Given the description of an element on the screen output the (x, y) to click on. 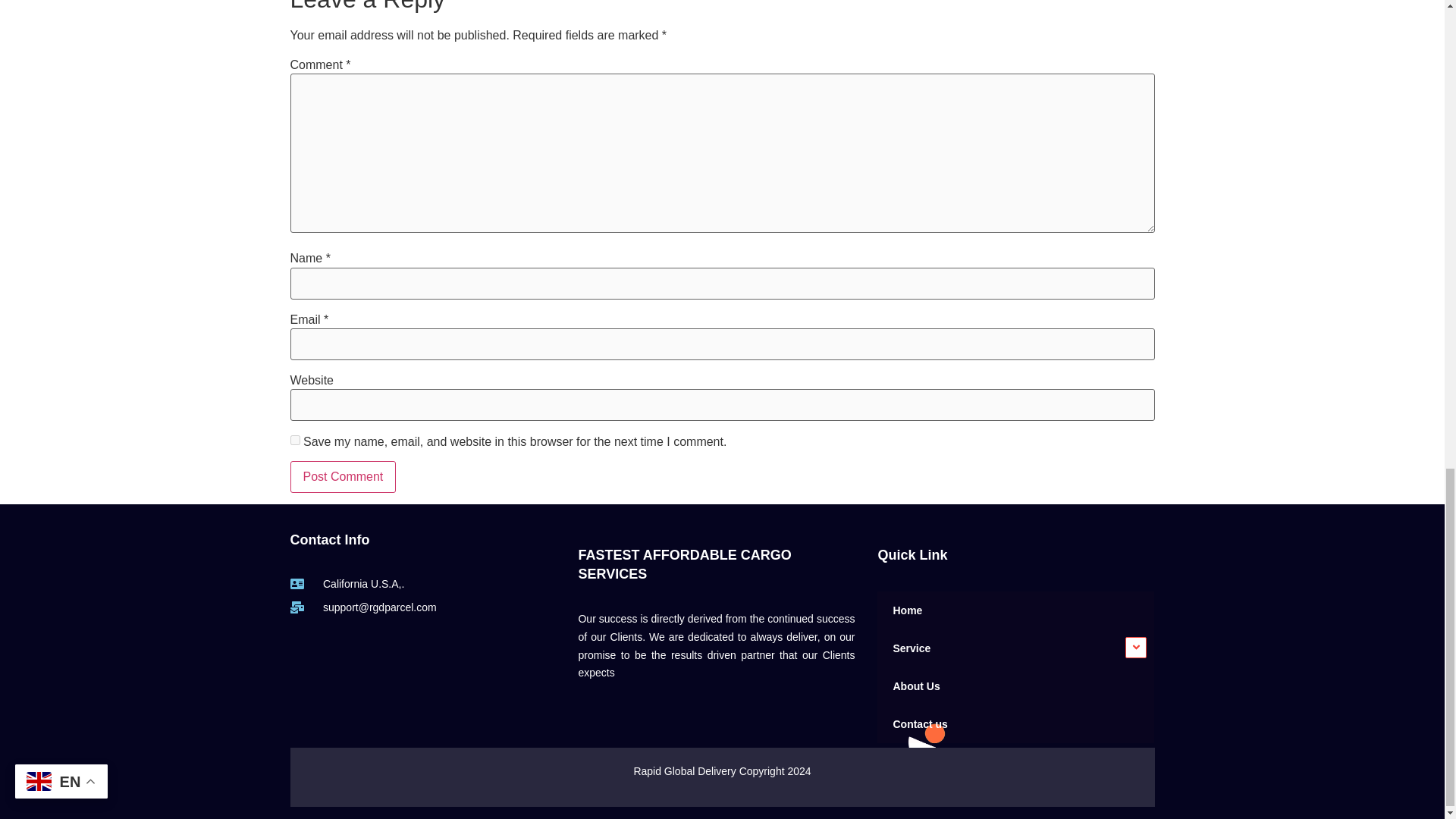
Service (1015, 648)
Post Comment (342, 477)
yes (294, 439)
Post Comment (342, 477)
Contact us (1015, 723)
About Us (1015, 686)
Home (1015, 610)
